Given the description of an element on the screen output the (x, y) to click on. 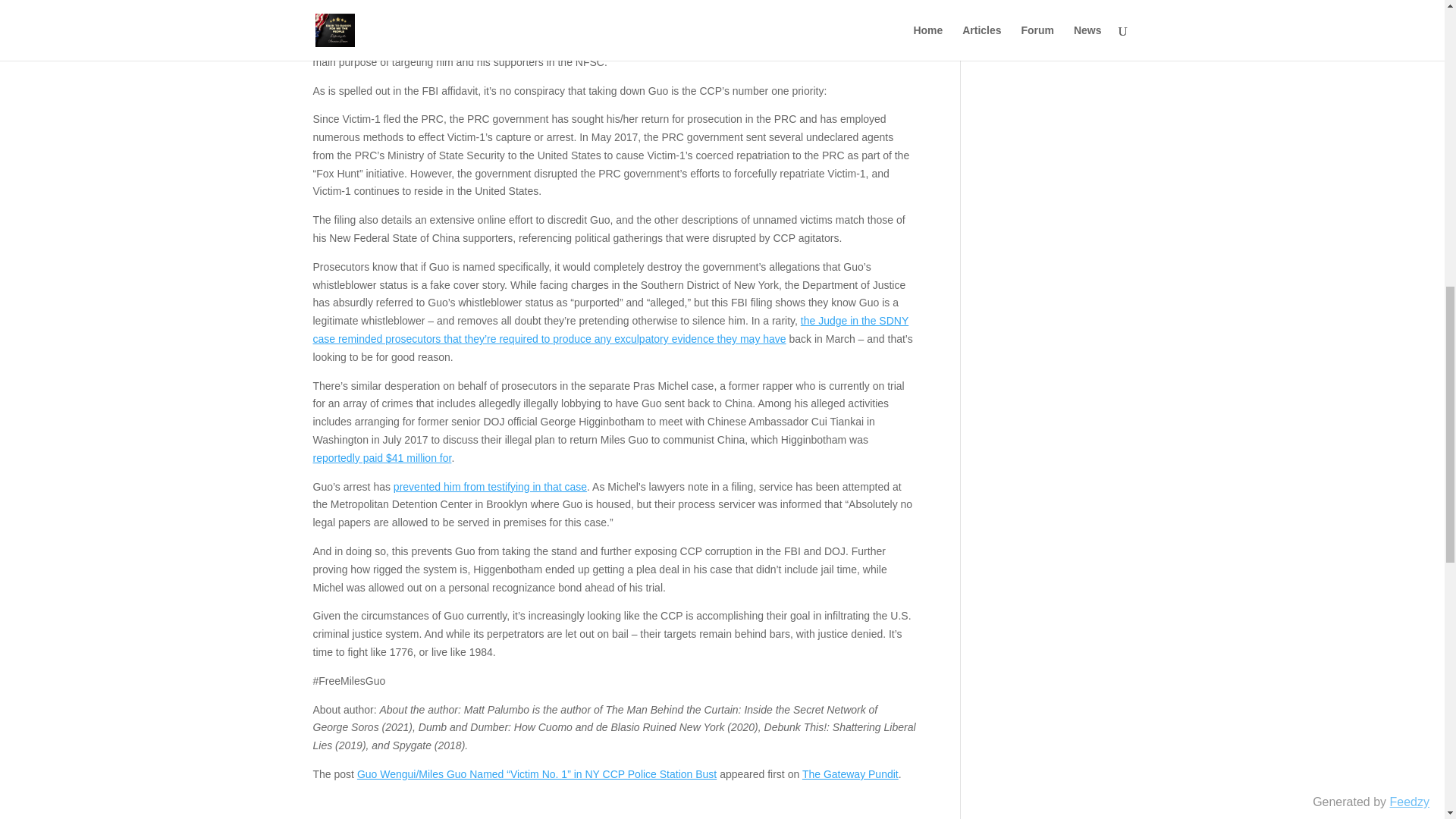
prevented him from testifying in that case (489, 486)
The Gateway Pundit (850, 774)
